Given the description of an element on the screen output the (x, y) to click on. 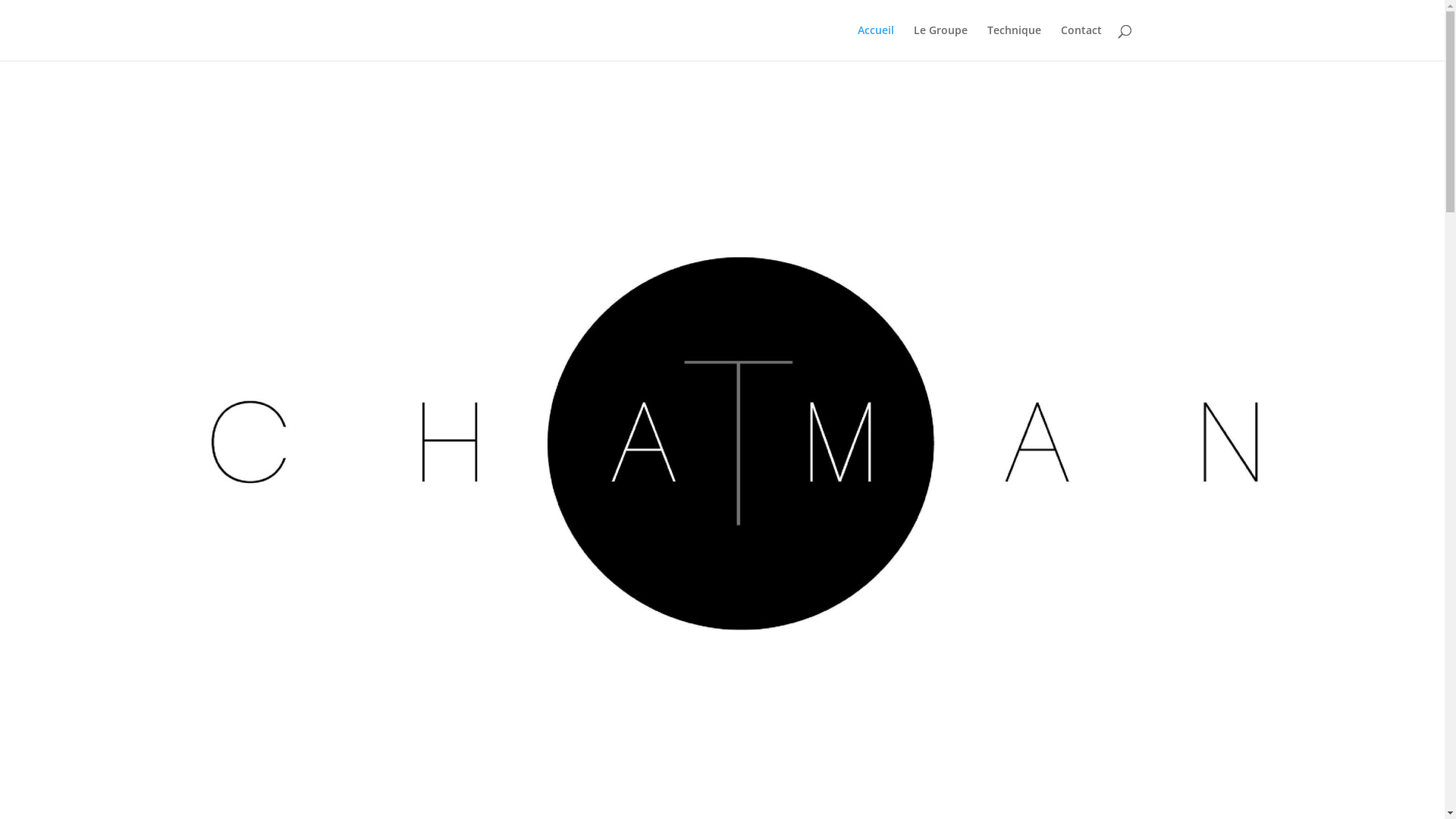
Le Groupe Element type: text (939, 42)
Accueil Element type: text (874, 42)
Contact Element type: text (1080, 42)
Technique Element type: text (1014, 42)
" Element type: text (721, 790)
